Given the description of an element on the screen output the (x, y) to click on. 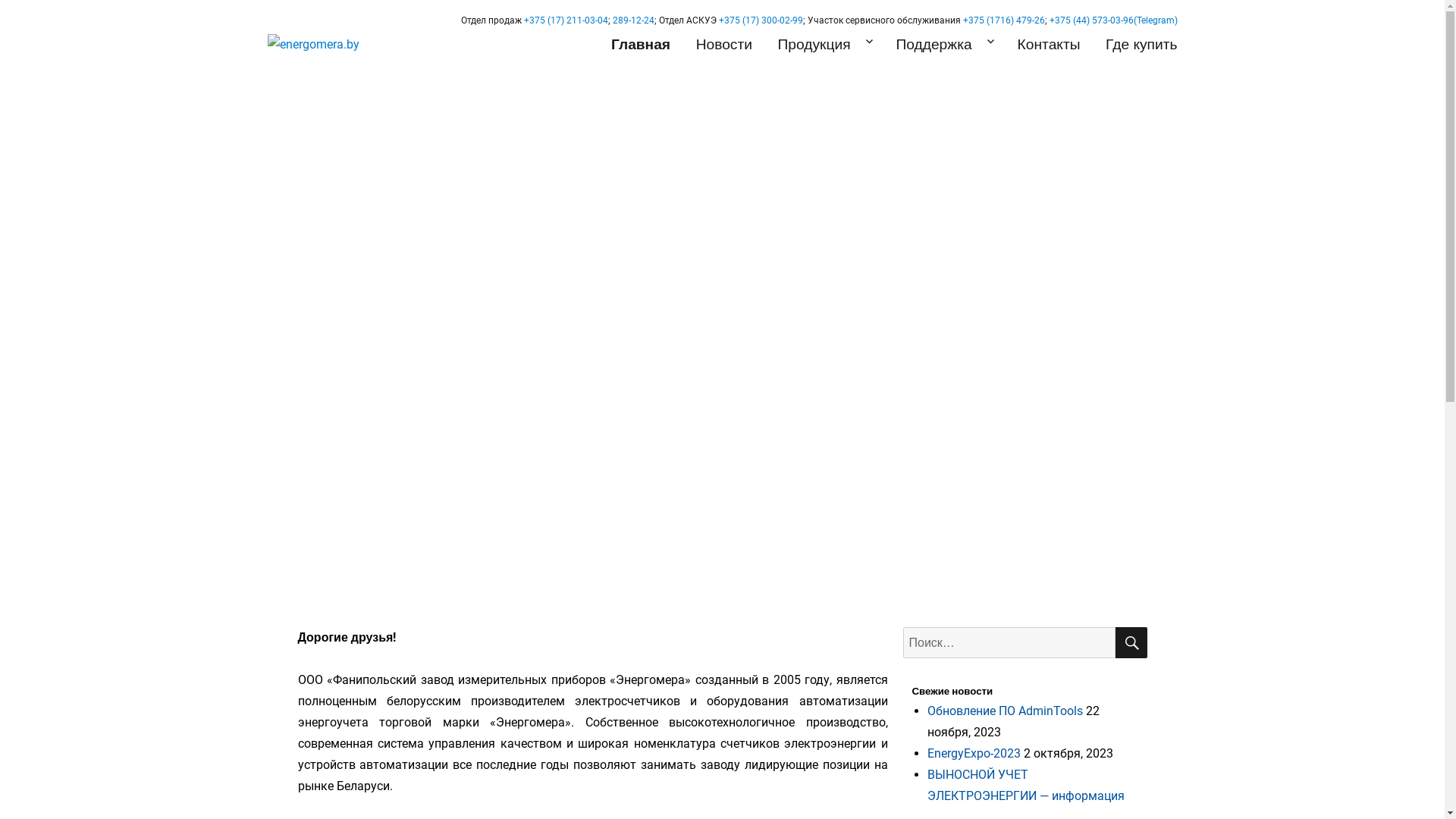
+375 (17) 300-02-99 Element type: text (760, 20)
EnergyExpo-2023 Element type: text (972, 753)
+375 (17) 211-03-04 Element type: text (565, 20)
289-12-24 Element type: text (633, 20)
+375 (44) 573-03-96(Telegram) Element type: text (1113, 20)
energomera.by Element type: text (342, 79)
+375 (1716) 479-26 Element type: text (1003, 20)
